Given the description of an element on the screen output the (x, y) to click on. 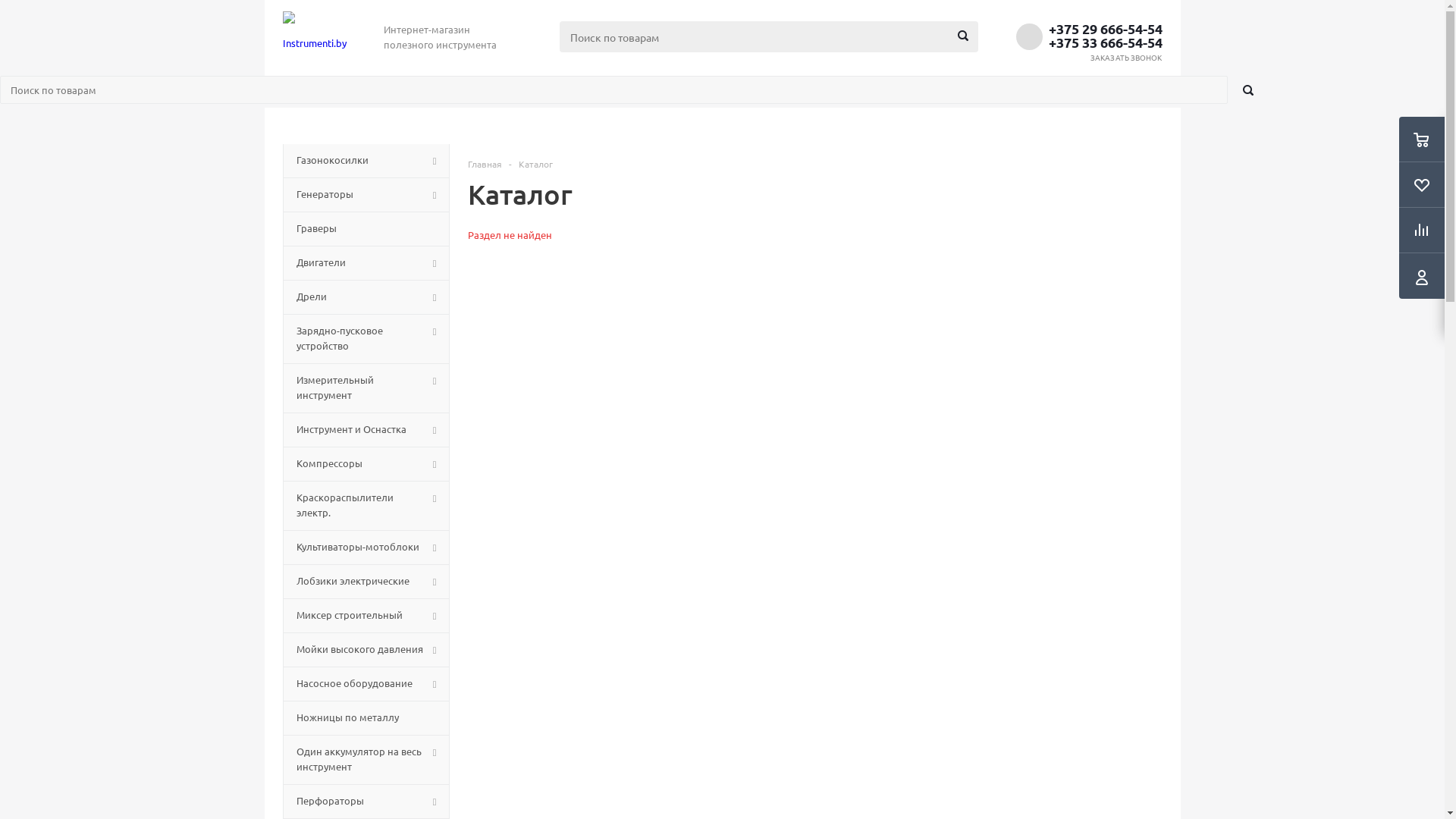
+375 33 666-54-54 Element type: text (1104, 42)
+375 29 666-54-54 Element type: text (1104, 28)
Instrumenti.by Element type: hover (313, 36)
